Given the description of an element on the screen output the (x, y) to click on. 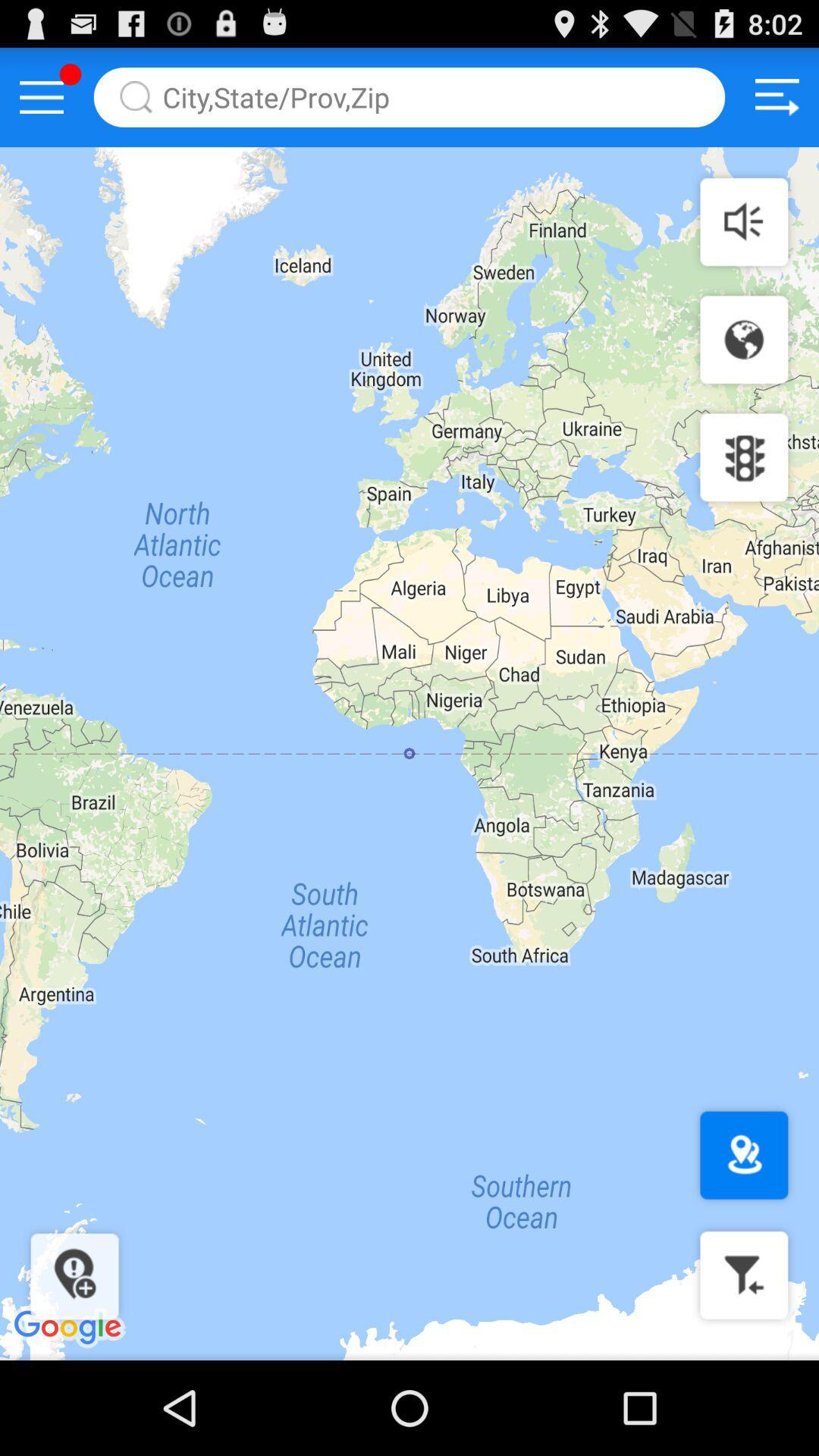
search (409, 97)
